Given the description of an element on the screen output the (x, y) to click on. 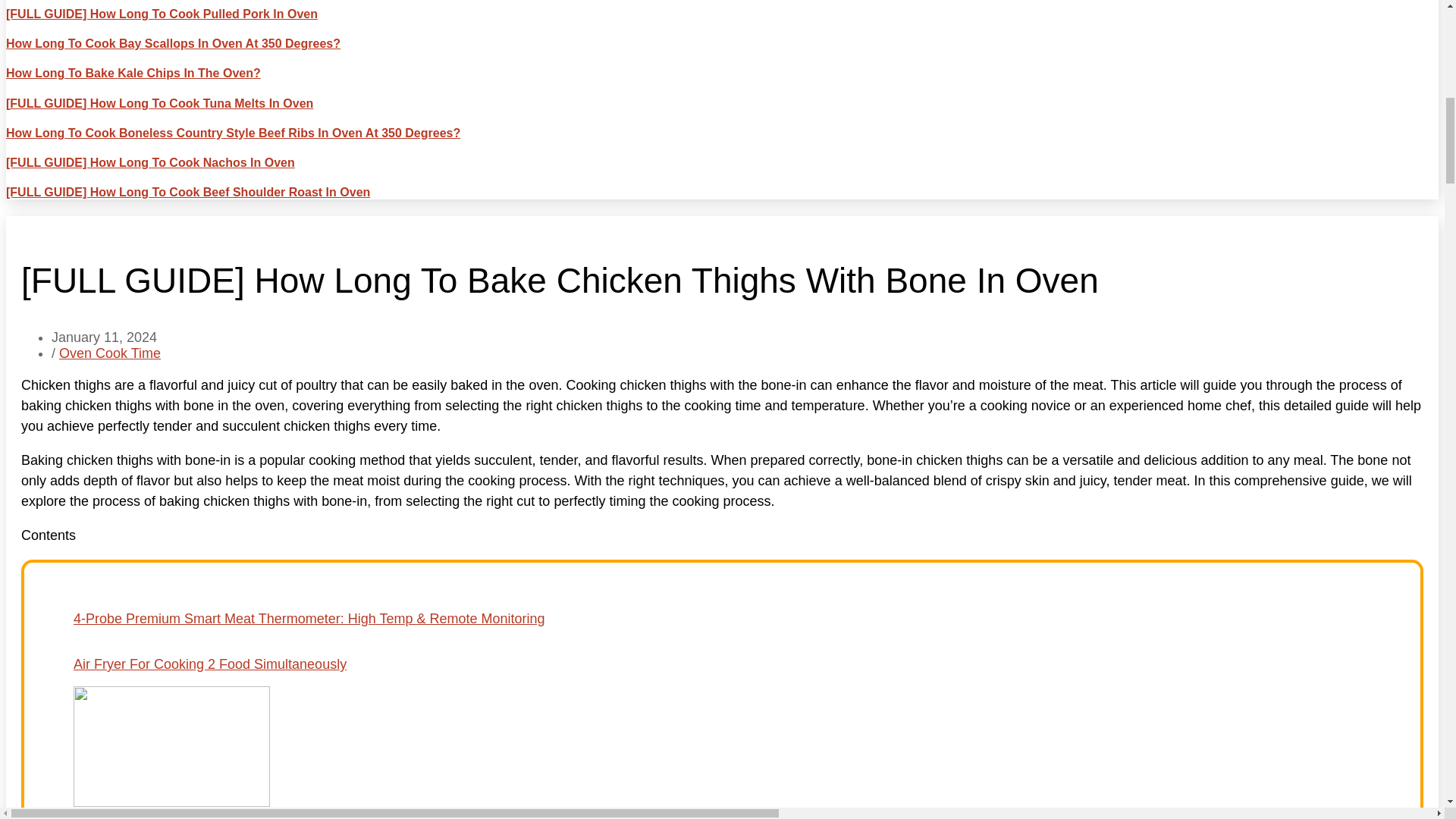
How Long To Cook Bay Scallops In Oven At 350 Degrees? (172, 42)
Smart Convection Oven (722, 806)
How Long To Bake Kale Chips In The Oven? (132, 72)
Oven Cook Time (109, 353)
Air Fryer For Cooking 2 Food Simultaneously (722, 672)
